Given the description of an element on the screen output the (x, y) to click on. 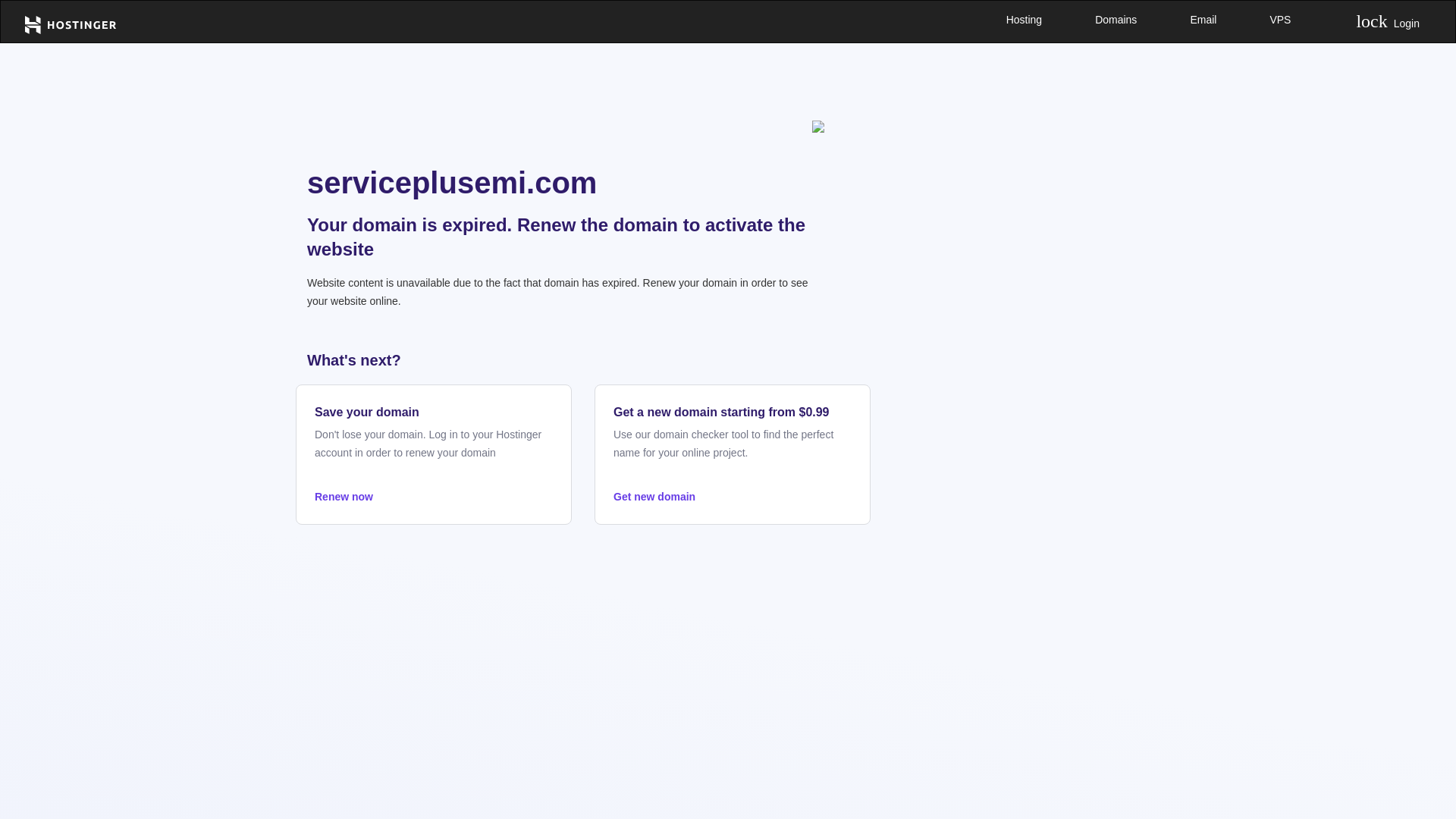
Domains (1115, 19)
Hosting (1023, 19)
VPS (1279, 19)
lock Login (1387, 21)
Email (1202, 19)
Get new domain (731, 496)
Renew now (433, 496)
